Given the description of an element on the screen output the (x, y) to click on. 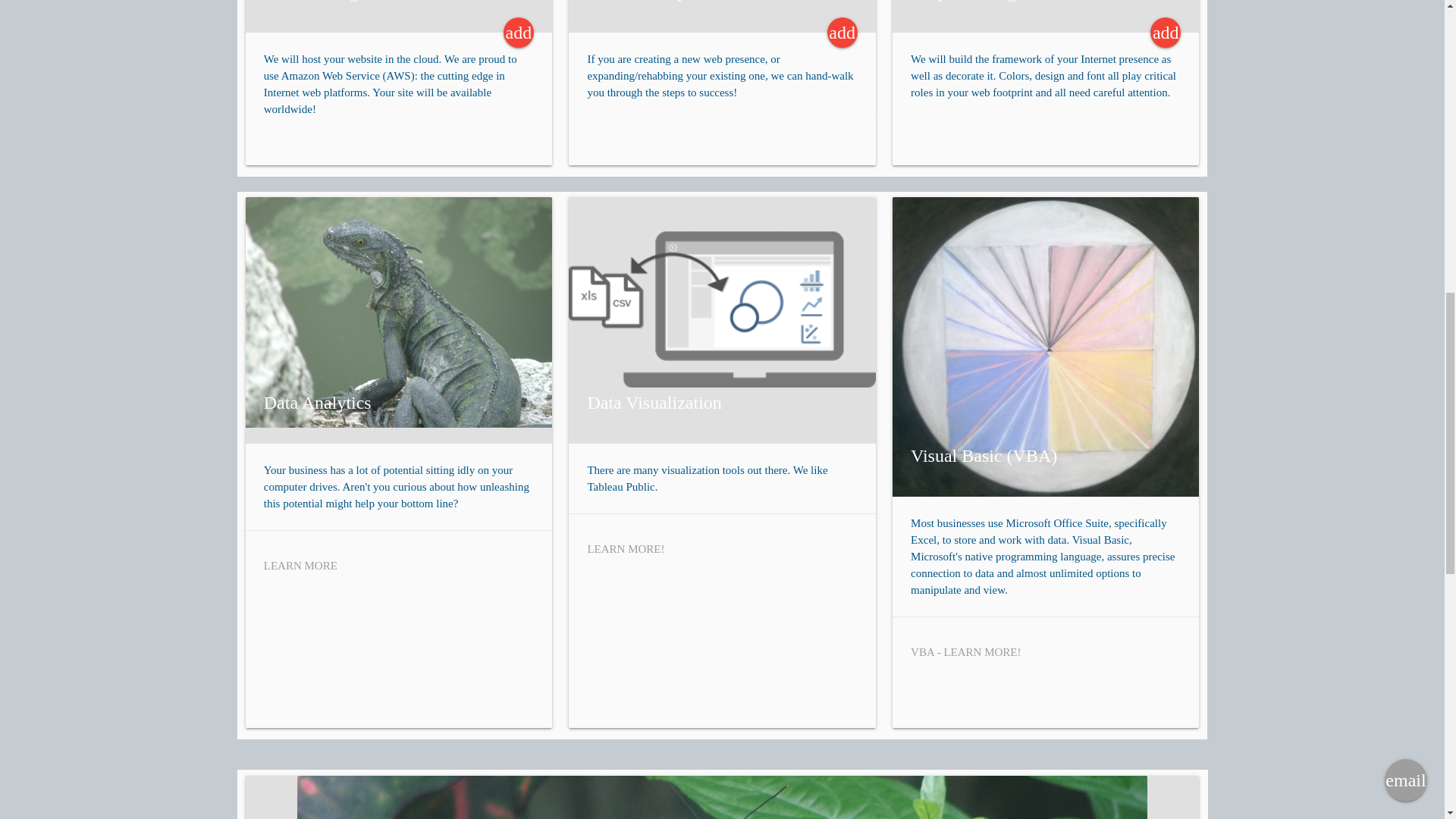
LEARN MORE (300, 565)
add (842, 32)
add (518, 32)
add (1165, 32)
LEARN MORE! (624, 548)
